Given the description of an element on the screen output the (x, y) to click on. 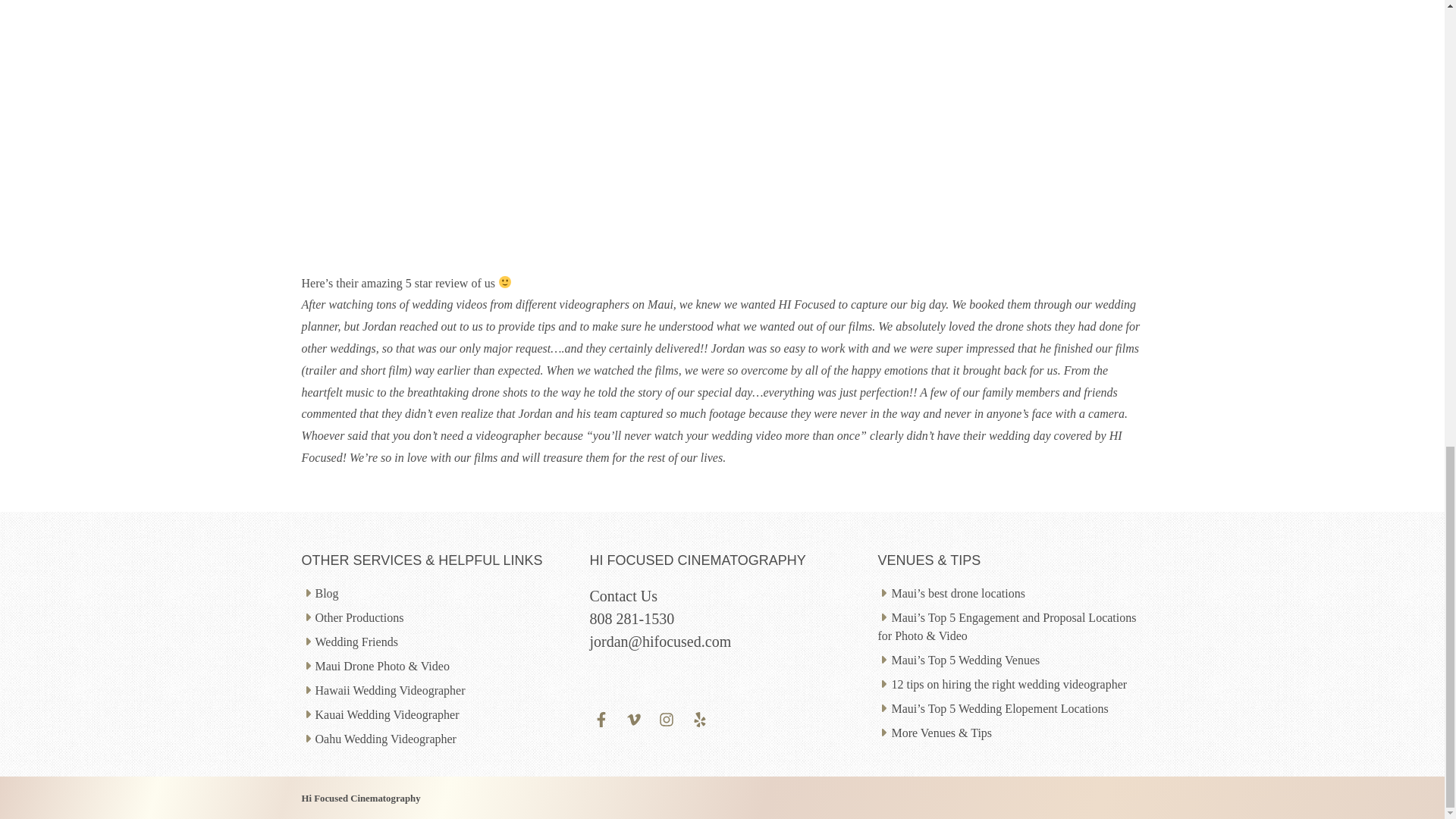
Hawaii Wedding Videographer (390, 689)
Blog (327, 593)
Other Productions (359, 617)
Oahu Wedding Videographer (386, 738)
Wedding Friends (356, 641)
808 281-1530 (631, 618)
Kauai Wedding Videographer (387, 714)
Contact Us (622, 596)
